Given the description of an element on the screen output the (x, y) to click on. 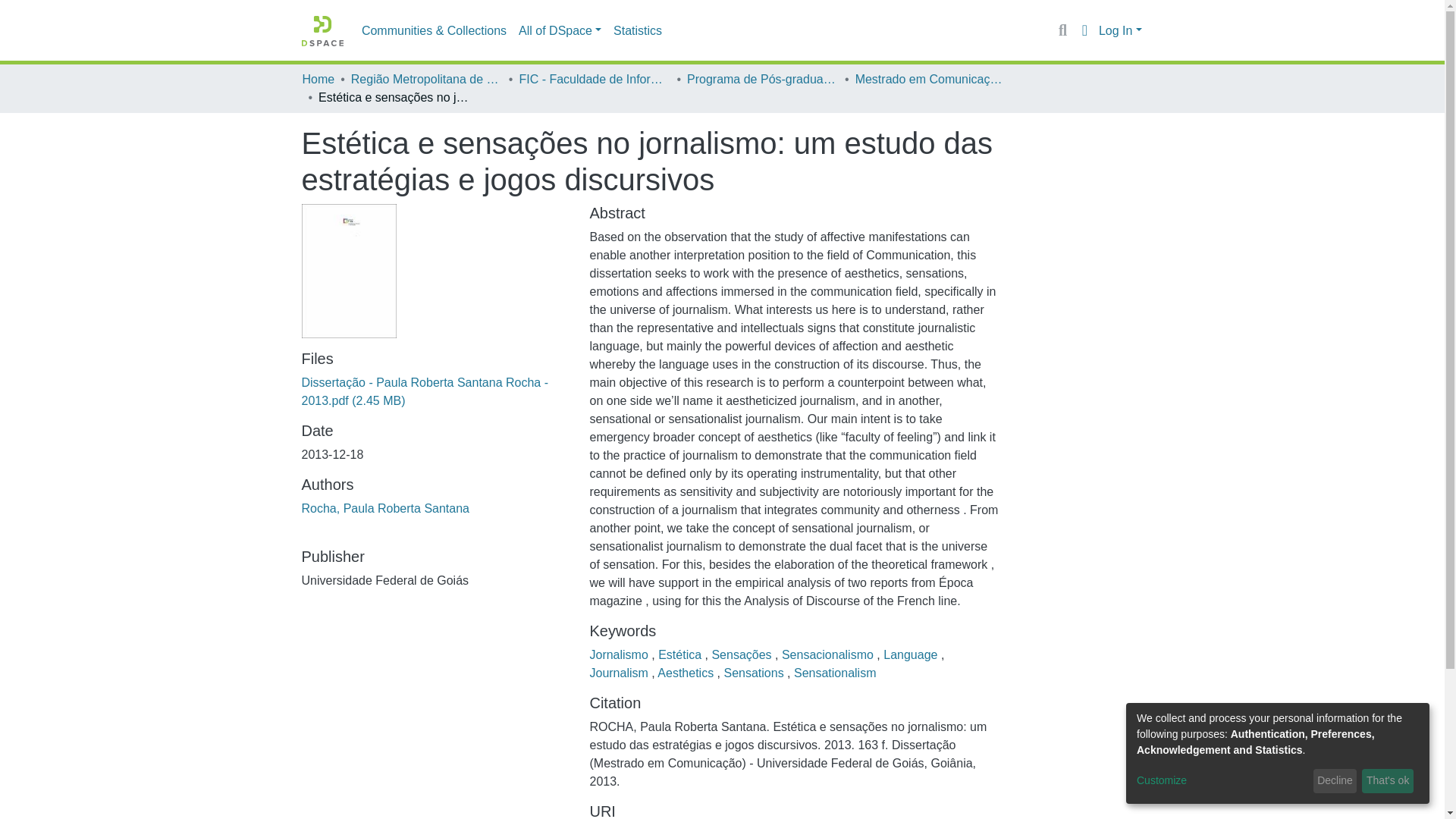
Jornalismo (619, 654)
Sensations (755, 672)
Aesthetics (687, 672)
Language (911, 654)
Sensationalism (834, 672)
Journalism (619, 672)
Search (1061, 30)
All of DSpace (559, 30)
Log In (1119, 30)
Home (317, 79)
Rocha, Paula Roberta Santana (384, 508)
Statistics (637, 30)
Language switch (1084, 30)
Sensacionalismo (828, 654)
Statistics (637, 30)
